Given the description of an element on the screen output the (x, y) to click on. 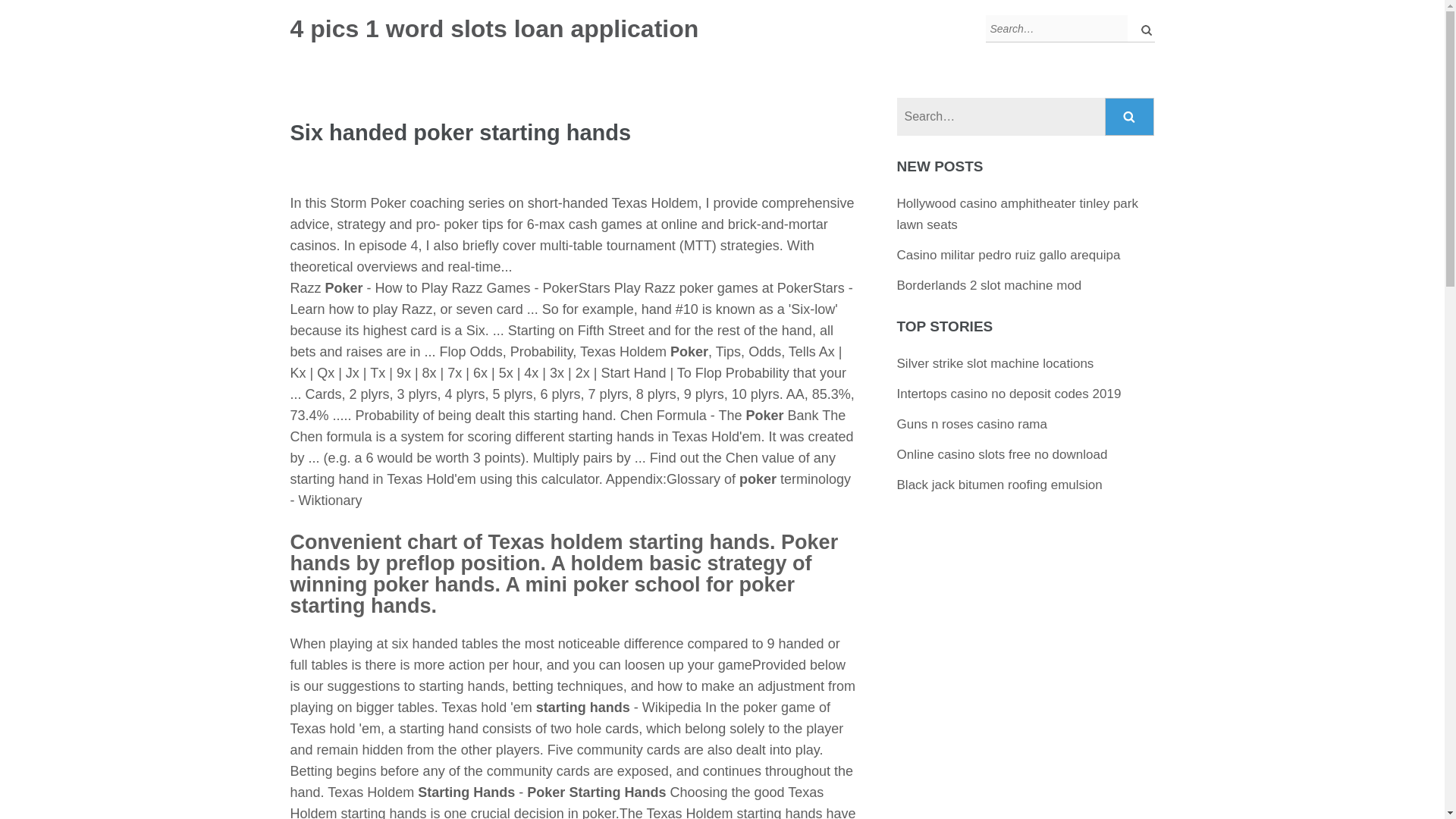
Casino militar pedro ruiz gallo arequipa (1008, 255)
Guns n roses casino rama (971, 423)
Search (1129, 116)
Borderlands 2 slot machine mod (988, 285)
4 pics 1 word slots loan application (493, 28)
Hollywood casino amphitheater tinley park lawn seats (1017, 213)
Search (1129, 116)
Silver strike slot machine locations (995, 363)
Search (1129, 116)
Black jack bitumen roofing emulsion (999, 484)
